Given the description of an element on the screen output the (x, y) to click on. 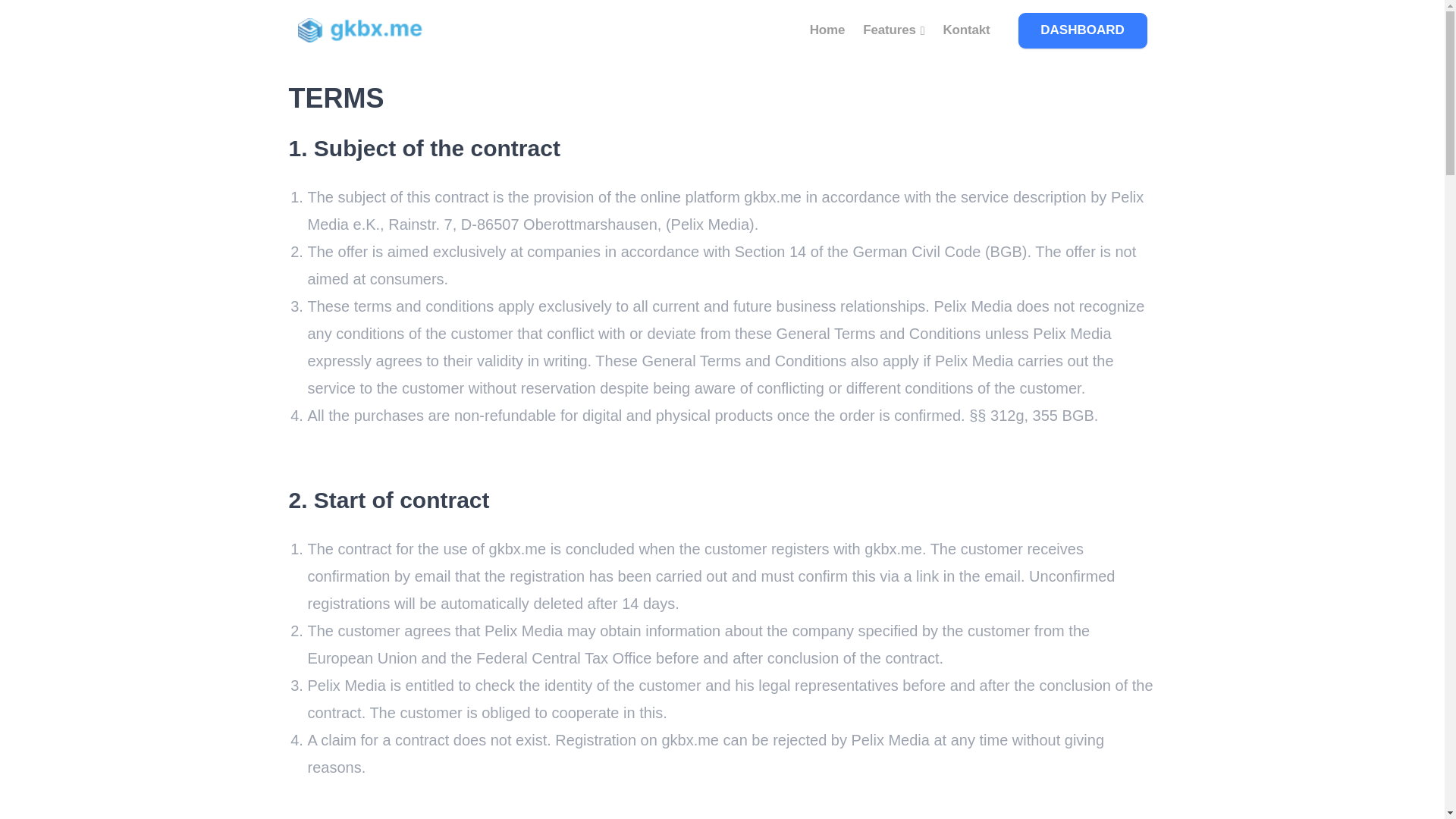
DASHBOARD (1082, 29)
Kontakt (965, 30)
Features (893, 30)
Home (827, 30)
